Given the description of an element on the screen output the (x, y) to click on. 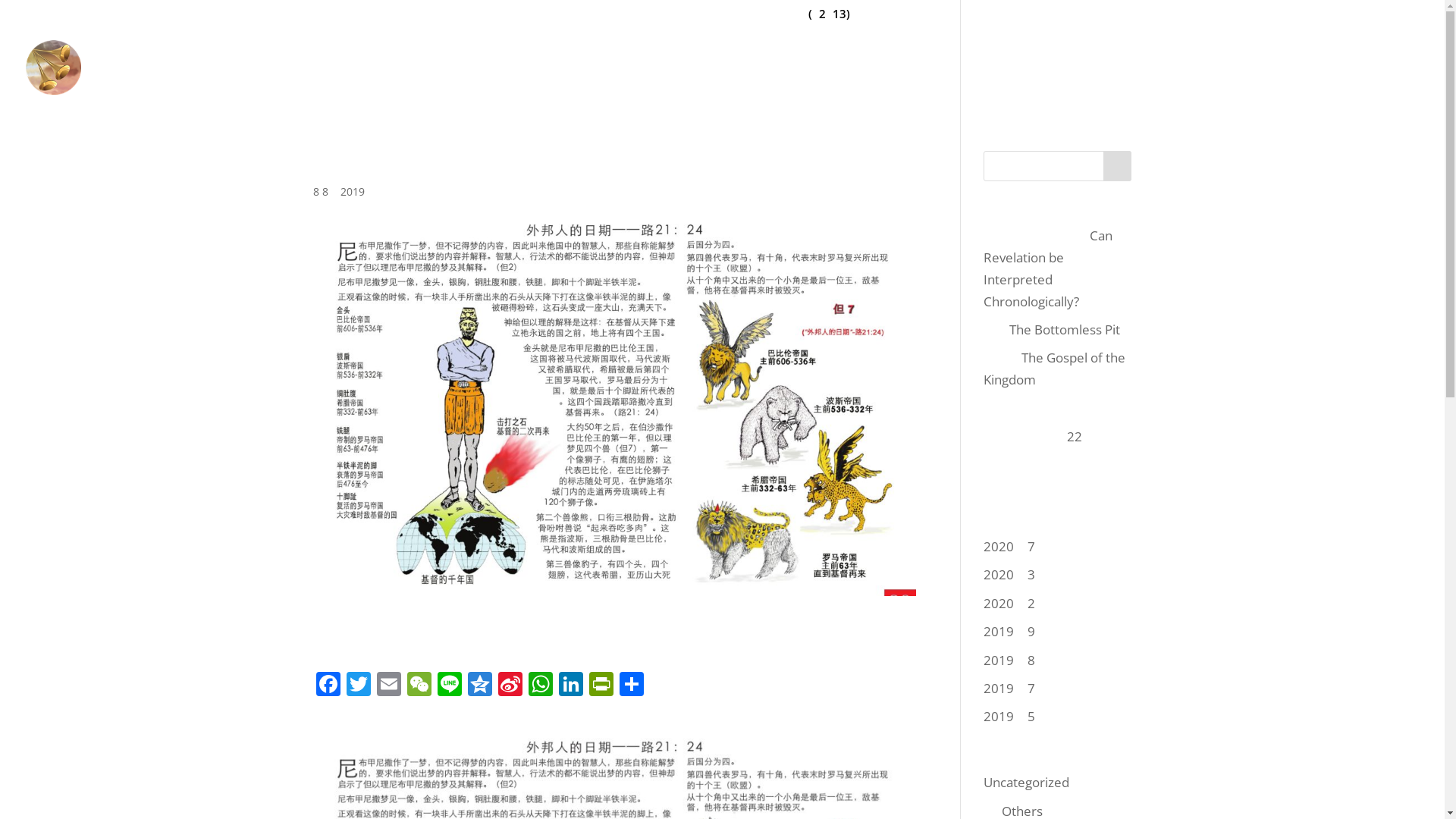
PrintFriendly Element type: text (600, 685)
Qzone Element type: text (479, 685)
Uncategorized Element type: text (1026, 781)
Email Element type: text (388, 685)
Line Element type: text (448, 685)
Sina Weibo Element type: text (509, 685)
Twitter Element type: text (357, 685)
Share Element type: text (630, 685)
WhatsApp Element type: text (539, 685)
LinkedIn Element type: text (570, 685)
WeChat Element type: text (418, 685)
Facebook Element type: text (327, 685)
